Given the description of an element on the screen output the (x, y) to click on. 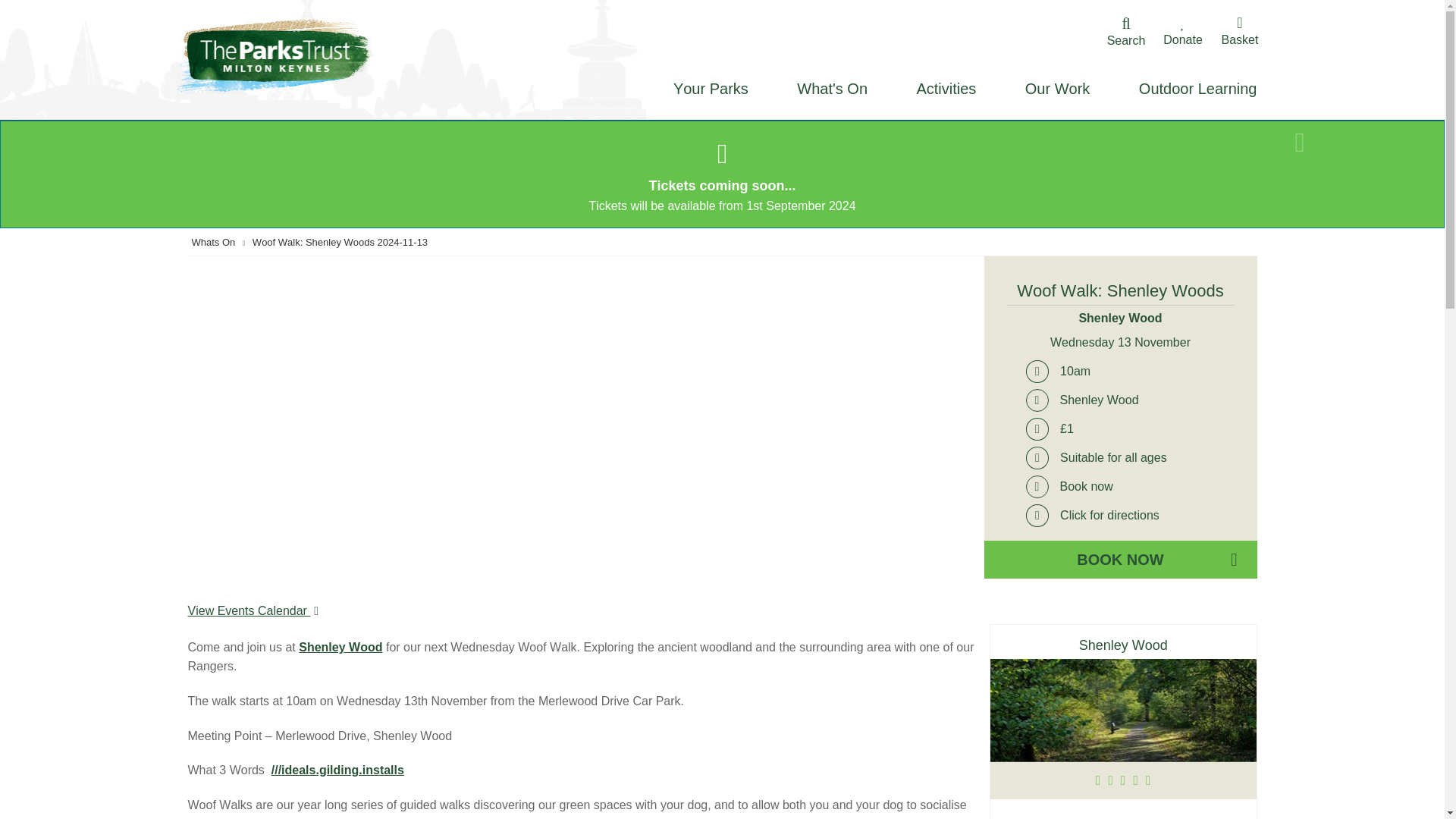
Outdoor Learning (1191, 89)
Search (1125, 32)
The Parks Trust (282, 55)
What's On (832, 89)
go (1058, 59)
Activities (945, 89)
Your Parks (711, 89)
Your Parks (711, 89)
Our Work (1057, 89)
Basket (1238, 32)
